Given the description of an element on the screen output the (x, y) to click on. 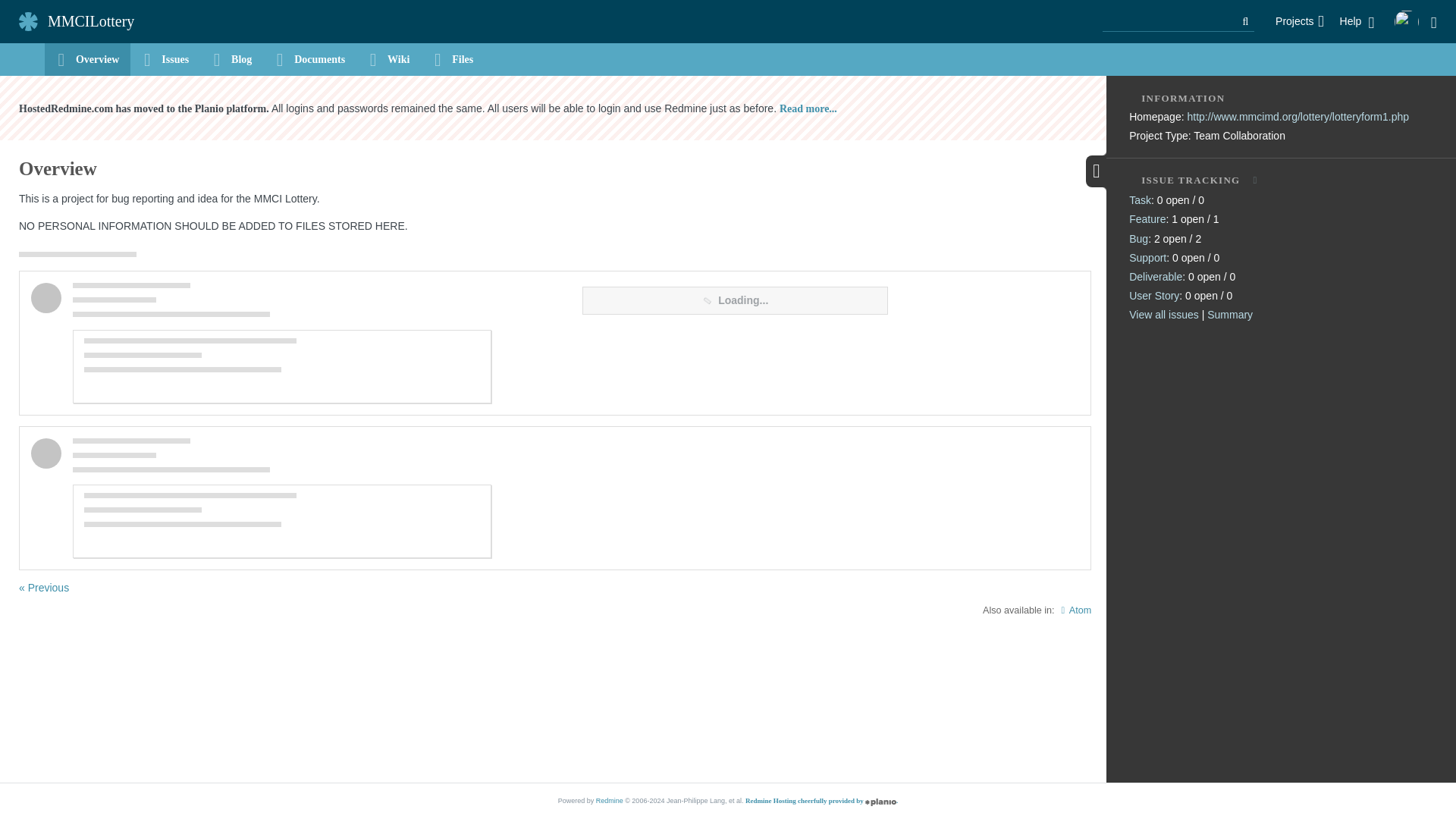
Read more... (807, 108)
Task (1140, 200)
Support (1147, 257)
Overview (88, 59)
Wiki (388, 59)
Files (452, 59)
View all issues (1163, 314)
Bug (1138, 238)
Deliverable (1155, 277)
Help (1356, 21)
